Given the description of an element on the screen output the (x, y) to click on. 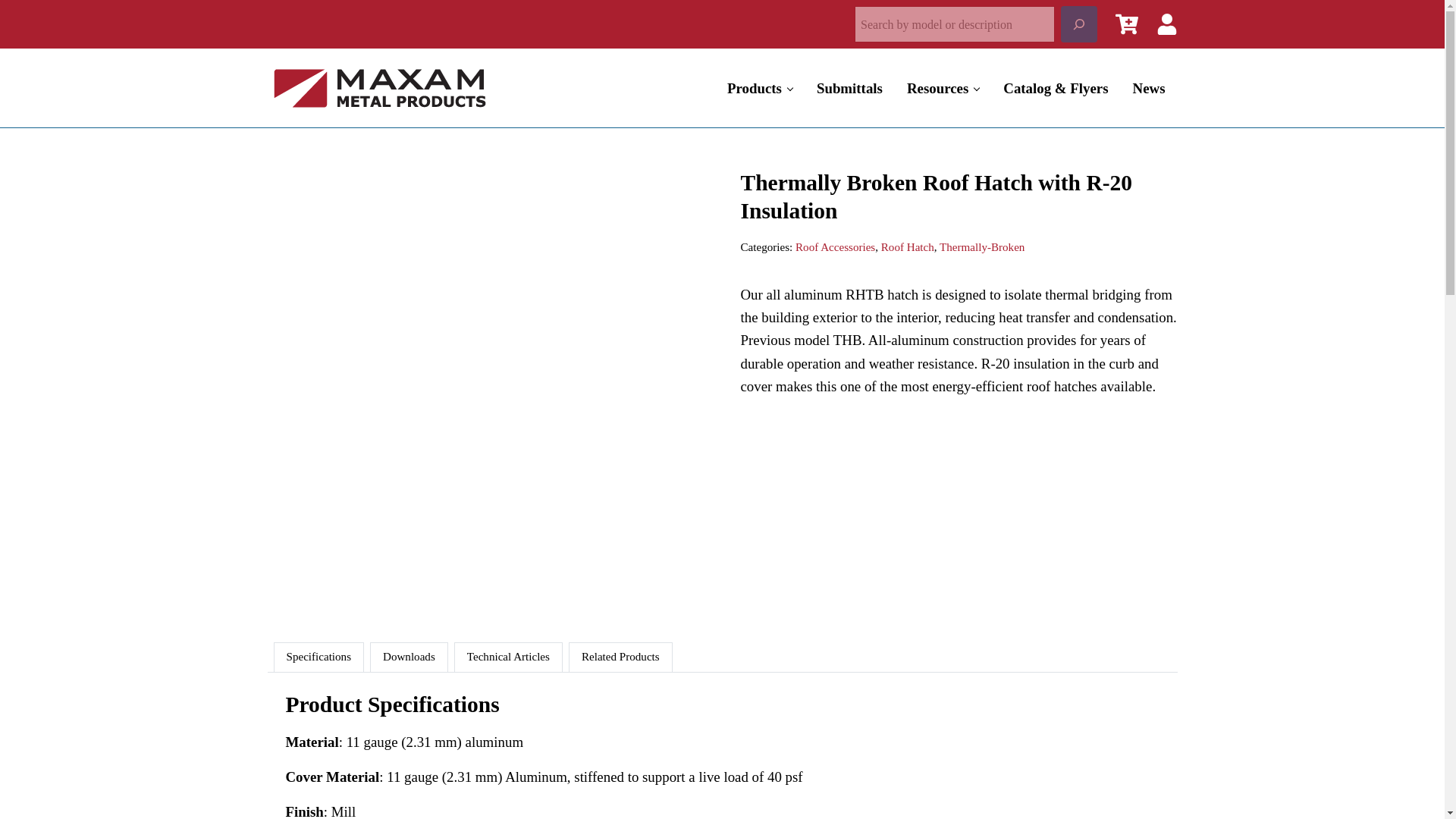
Products (759, 87)
News (1149, 87)
Roof Hatch (907, 246)
Thermally-Broken (982, 246)
Submittals (850, 87)
Roof Accessories (834, 246)
Resources (943, 87)
